Given the description of an element on the screen output the (x, y) to click on. 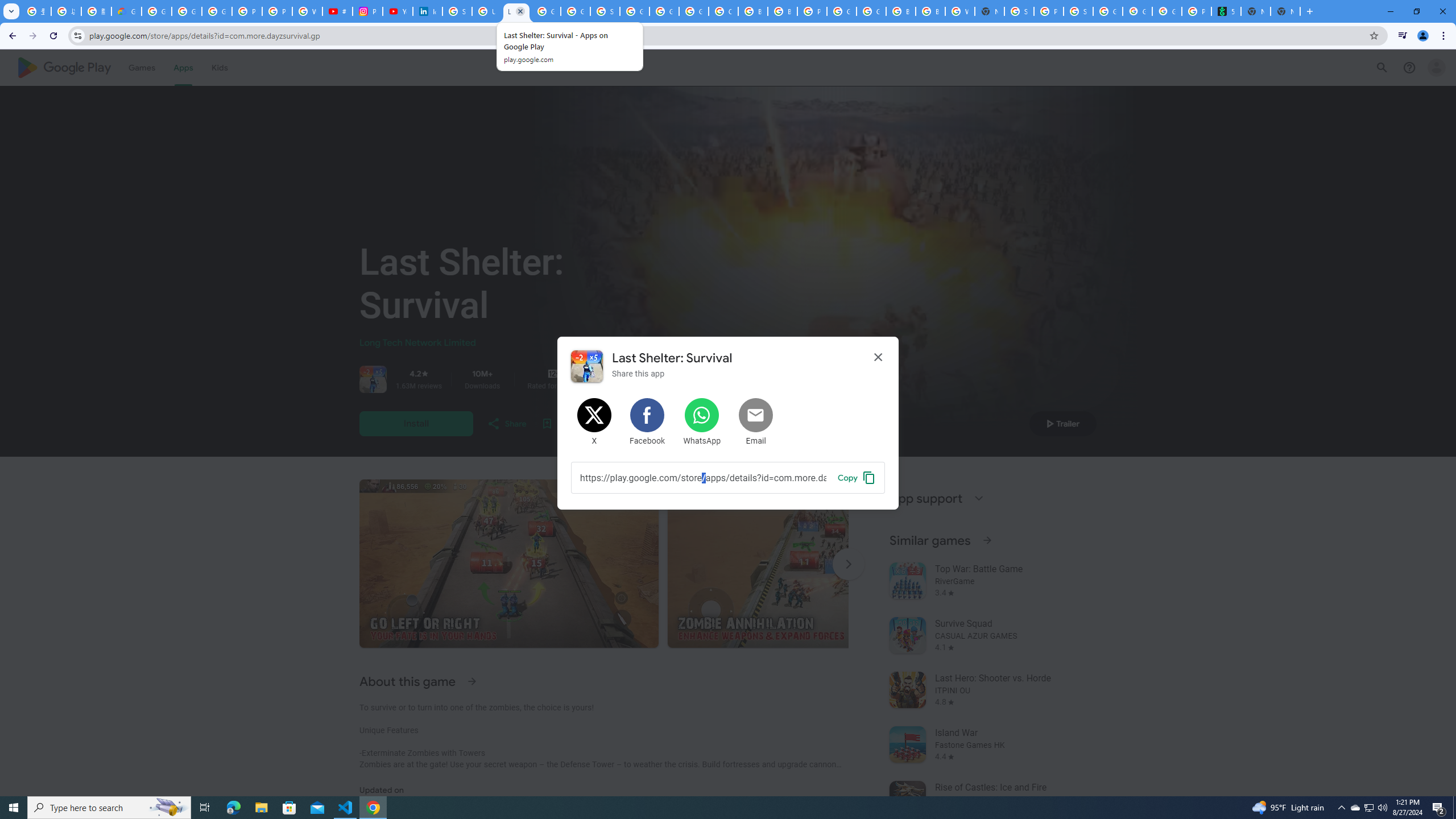
#nbabasketballhighlights - YouTube (337, 11)
New Tab (989, 11)
Sign in - Google Accounts (1018, 11)
Privacy Help Center - Policies Help (277, 11)
Google Cloud Platform (664, 11)
